Given the description of an element on the screen output the (x, y) to click on. 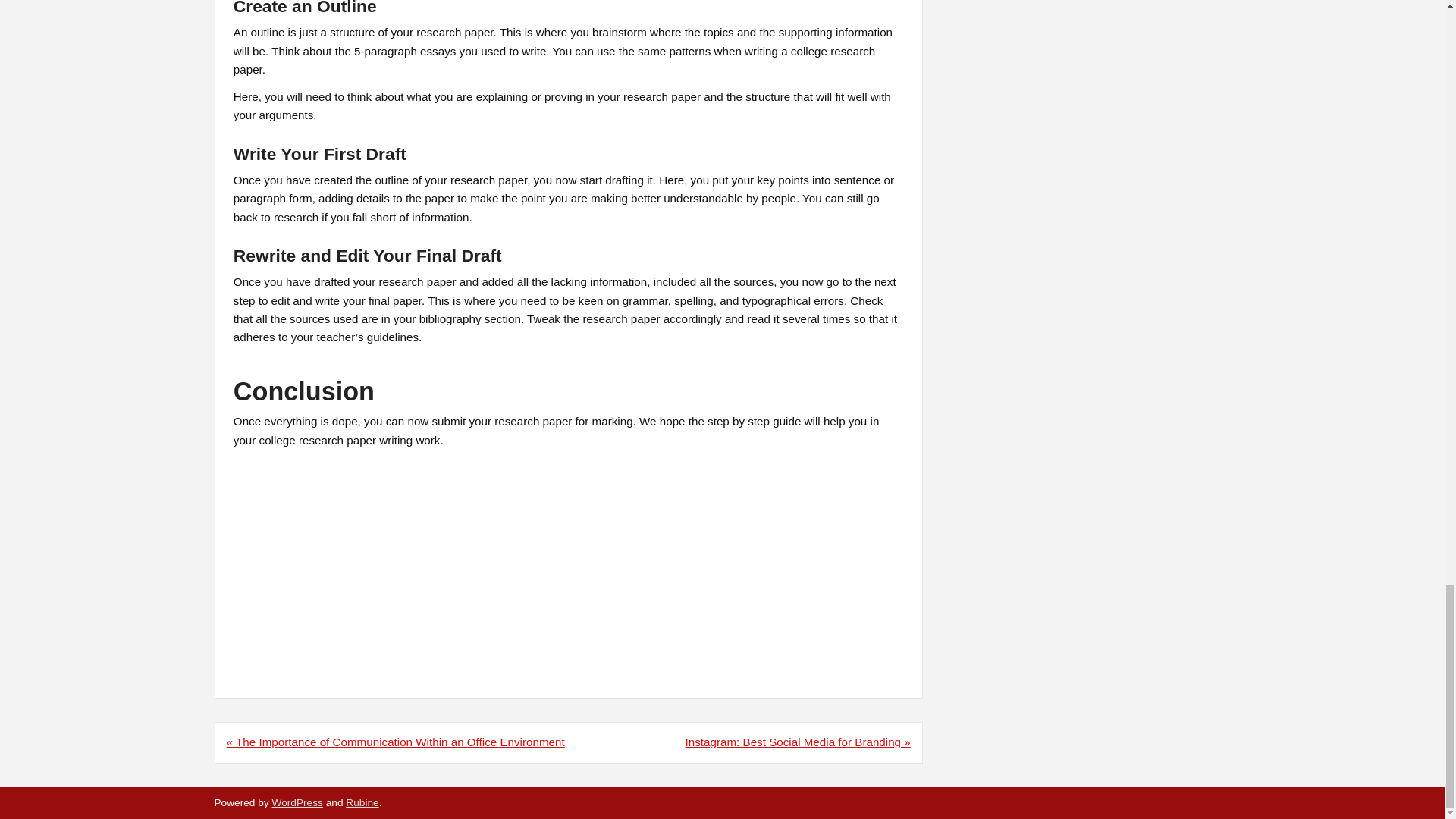
WordPress (295, 802)
Rubine WordPress Theme (362, 802)
